Given the description of an element on the screen output the (x, y) to click on. 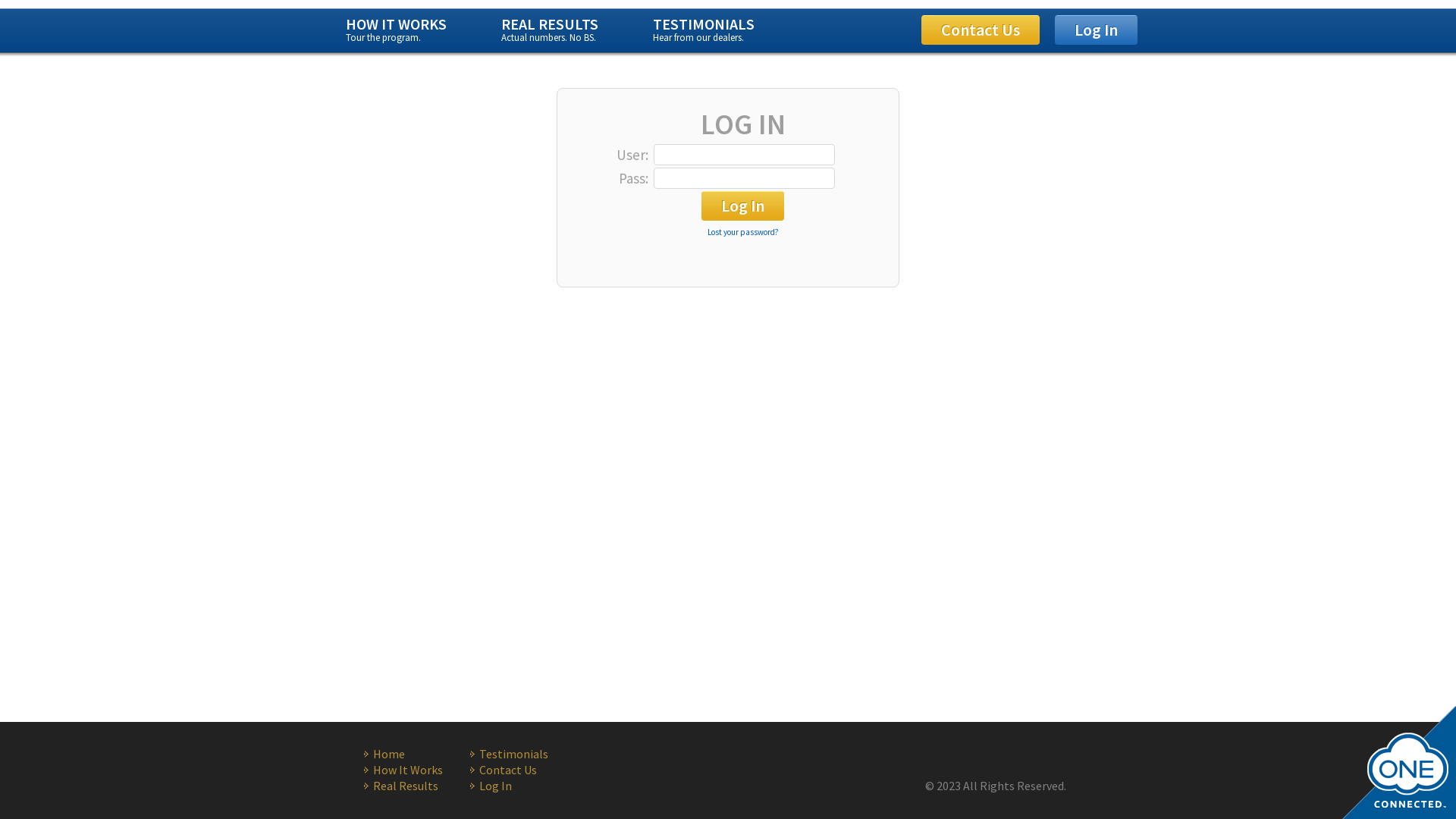
TESTIMONIALS
Hear from our dealers. Element type: text (703, 29)
Log In Element type: text (1095, 29)
How It Works Element type: text (417, 770)
Home Element type: text (417, 754)
Contact Us Element type: text (980, 29)
Testimonials Element type: text (523, 754)
Contact Us Element type: text (523, 770)
Lost your password? Element type: text (742, 231)
Log In Element type: text (523, 785)
Real Results Element type: text (417, 785)
HOW IT WORKS
Tour the program. Element type: text (395, 29)
REAL RESULTS
Actual numbers. No BS. Element type: text (549, 29)
